Given the description of an element on the screen output the (x, y) to click on. 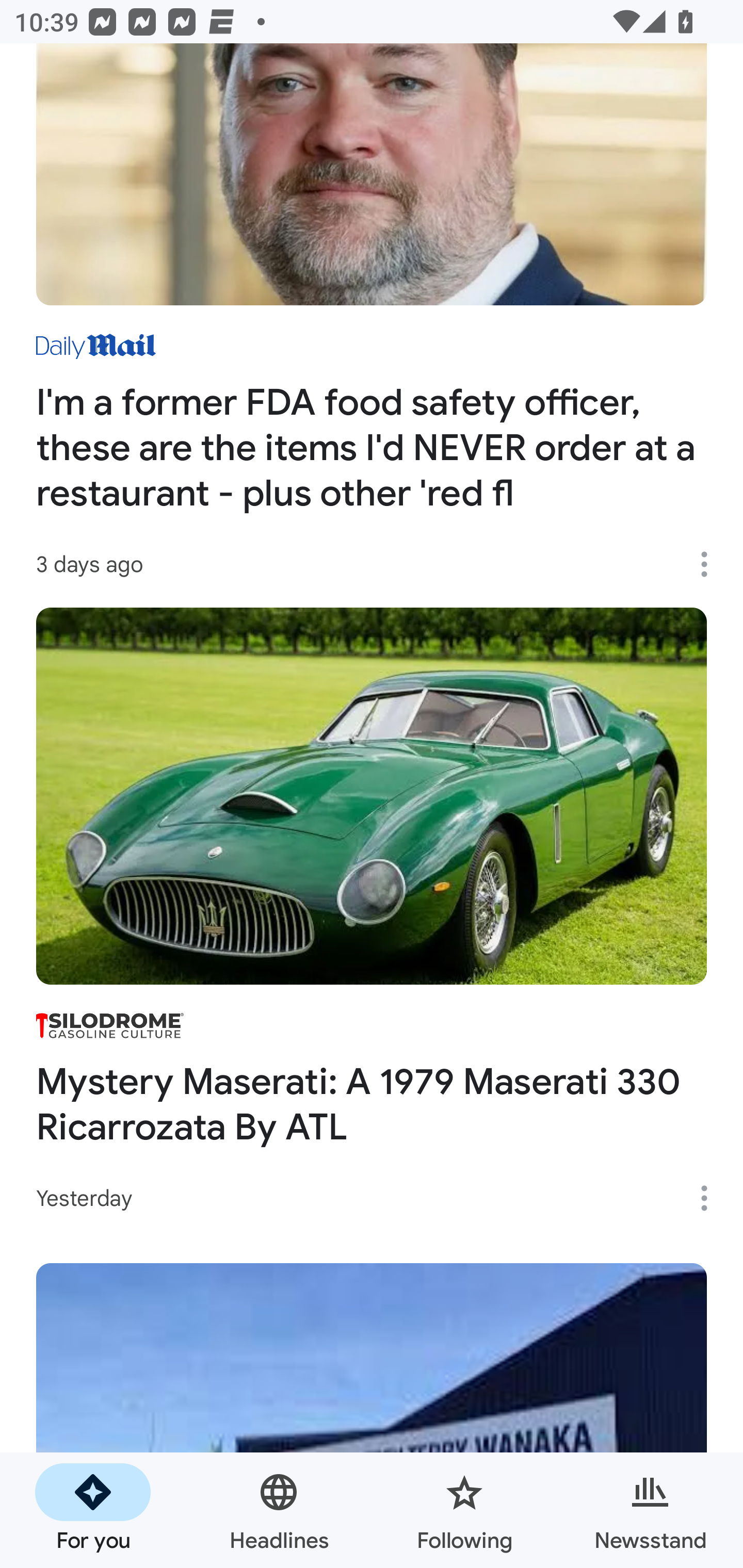
More options (711, 564)
More options (711, 1197)
For you (92, 1509)
Headlines (278, 1509)
Following (464, 1509)
Newsstand (650, 1509)
